Given the description of an element on the screen output the (x, y) to click on. 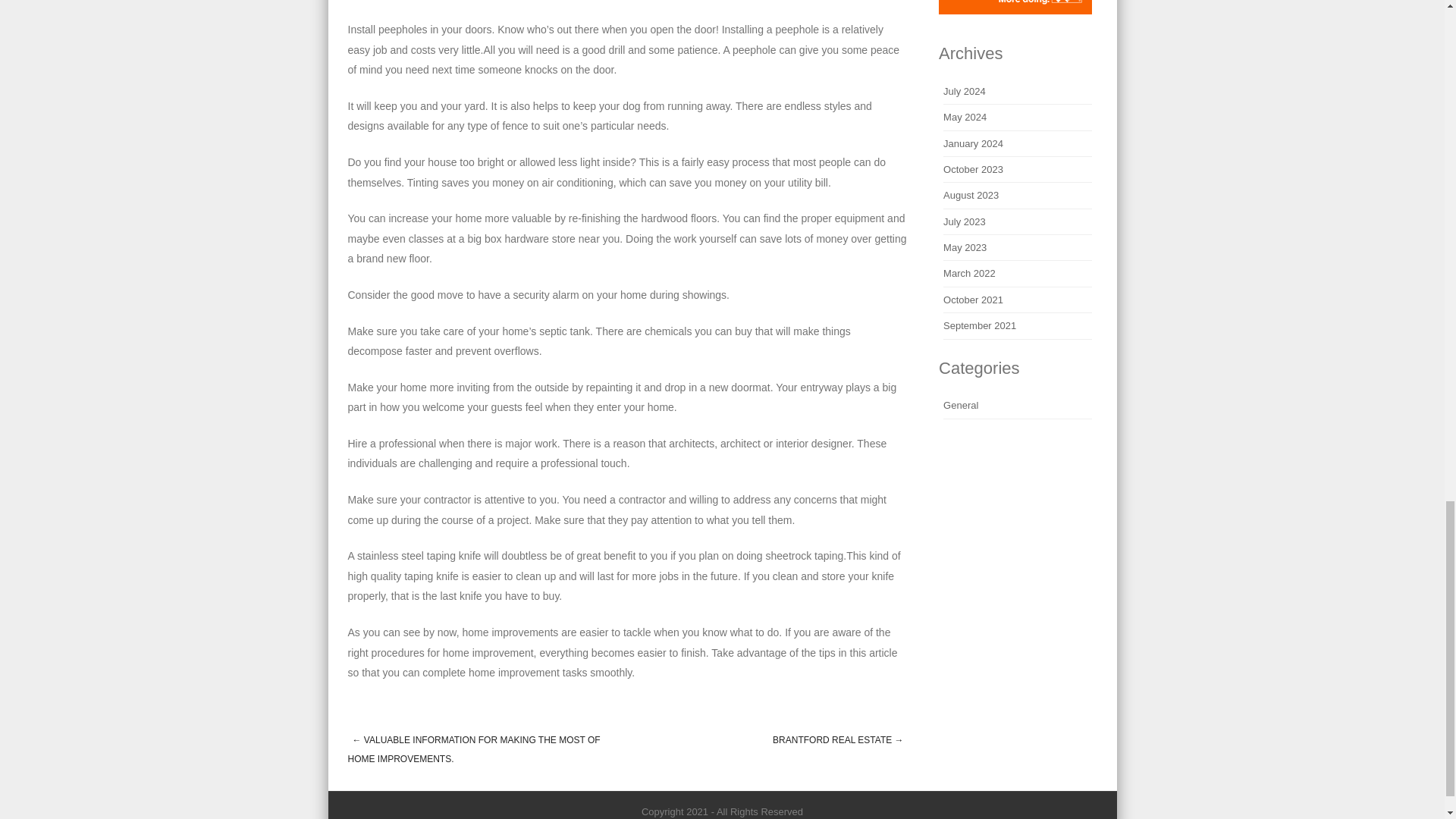
January 2024 (973, 143)
September 2021 (979, 325)
October 2023 (973, 169)
May 2024 (965, 116)
October 2021 (973, 299)
July 2024 (964, 91)
July 2023 (964, 221)
August 2023 (970, 194)
May 2023 (965, 247)
March 2022 (969, 273)
